Given the description of an element on the screen output the (x, y) to click on. 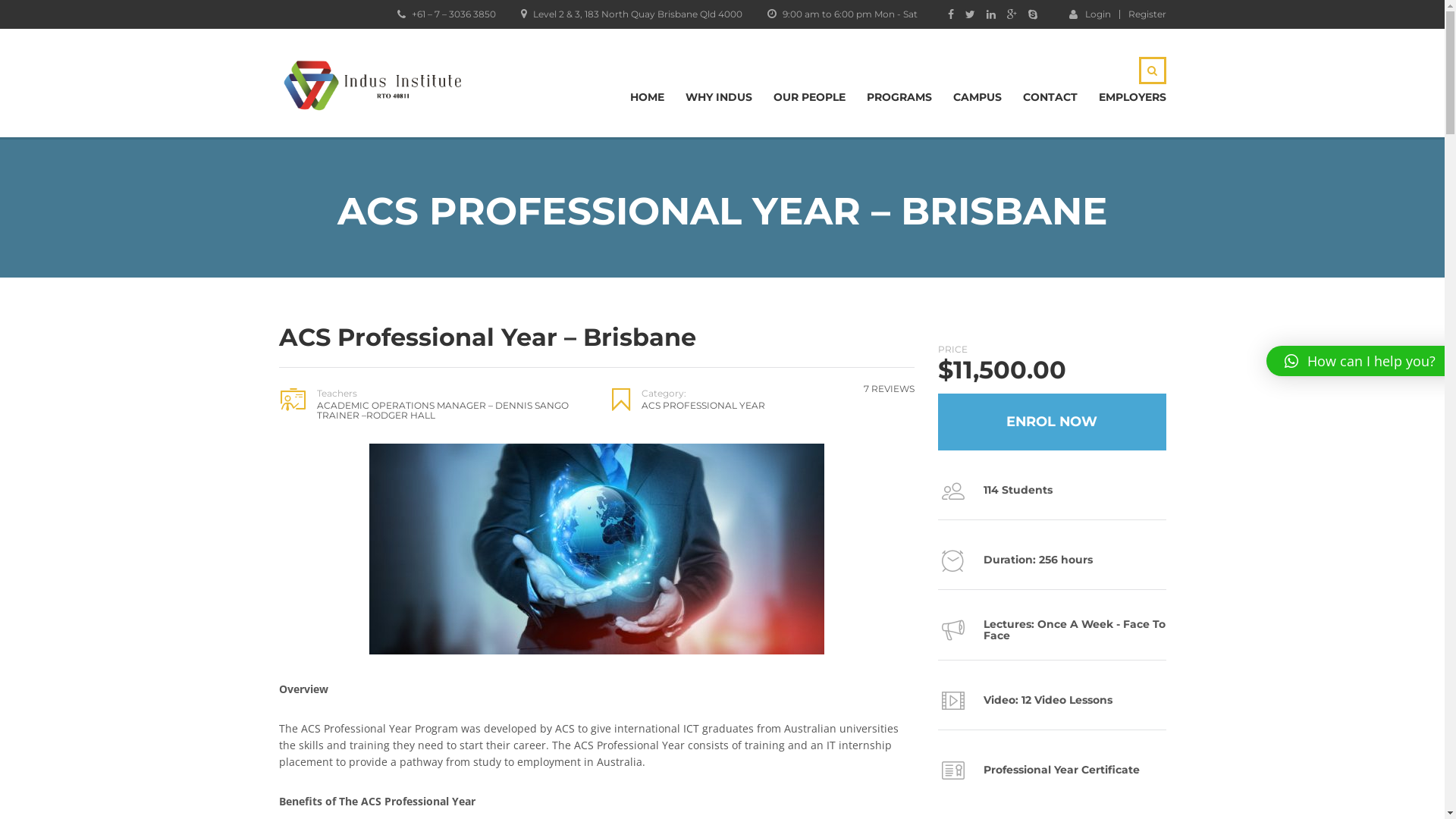
WHY INDUS INSTITUTE Element type: text (608, 659)
Register Element type: text (1147, 13)
TERMS & CONDITIONS Element type: text (1113, 787)
ACS PROFESSIONAL YEAR Element type: text (703, 405)
OUR PEOPLE Element type: text (608, 611)
OUR PROGRAMS Element type: text (608, 636)
PRIVACY POLICY Element type: text (1006, 787)
CAMPUS Element type: text (976, 96)
CONTACT US Element type: text (608, 561)
 | Indus Institute Element type: hover (595, 548)
FEEDBACK Element type: text (849, 787)
ENROL NOW Element type: text (1051, 421)
PROGRAMS Element type: text (898, 96)
DISCLAIMER Element type: text (920, 787)
Login Element type: text (1089, 13)
EMPLOYERS Element type: text (608, 586)
OUR PEOPLE Element type: text (809, 96)
HOME Element type: text (646, 96)
WHY INDUS Element type: text (718, 96)
CONTACT Element type: text (1049, 96)
BLOG Element type: text (608, 538)
info@indusinstitute.com.au Element type: text (825, 630)
EMPLOYERS Element type: text (1131, 96)
